Given the description of an element on the screen output the (x, y) to click on. 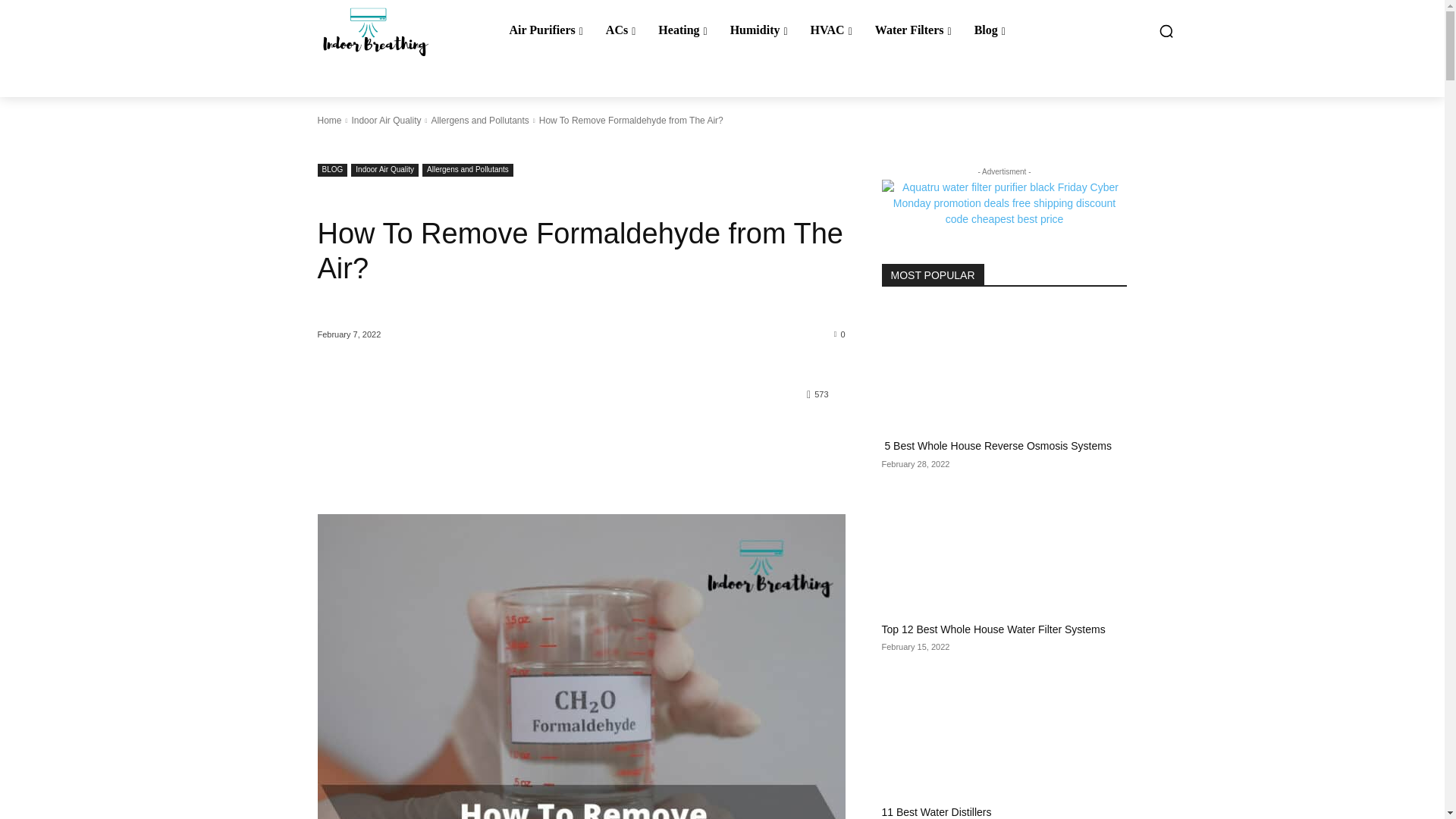
View all posts in Allergens and Pollutants (479, 120)
View all posts in Indoor Air Quality (385, 120)
